Given the description of an element on the screen output the (x, y) to click on. 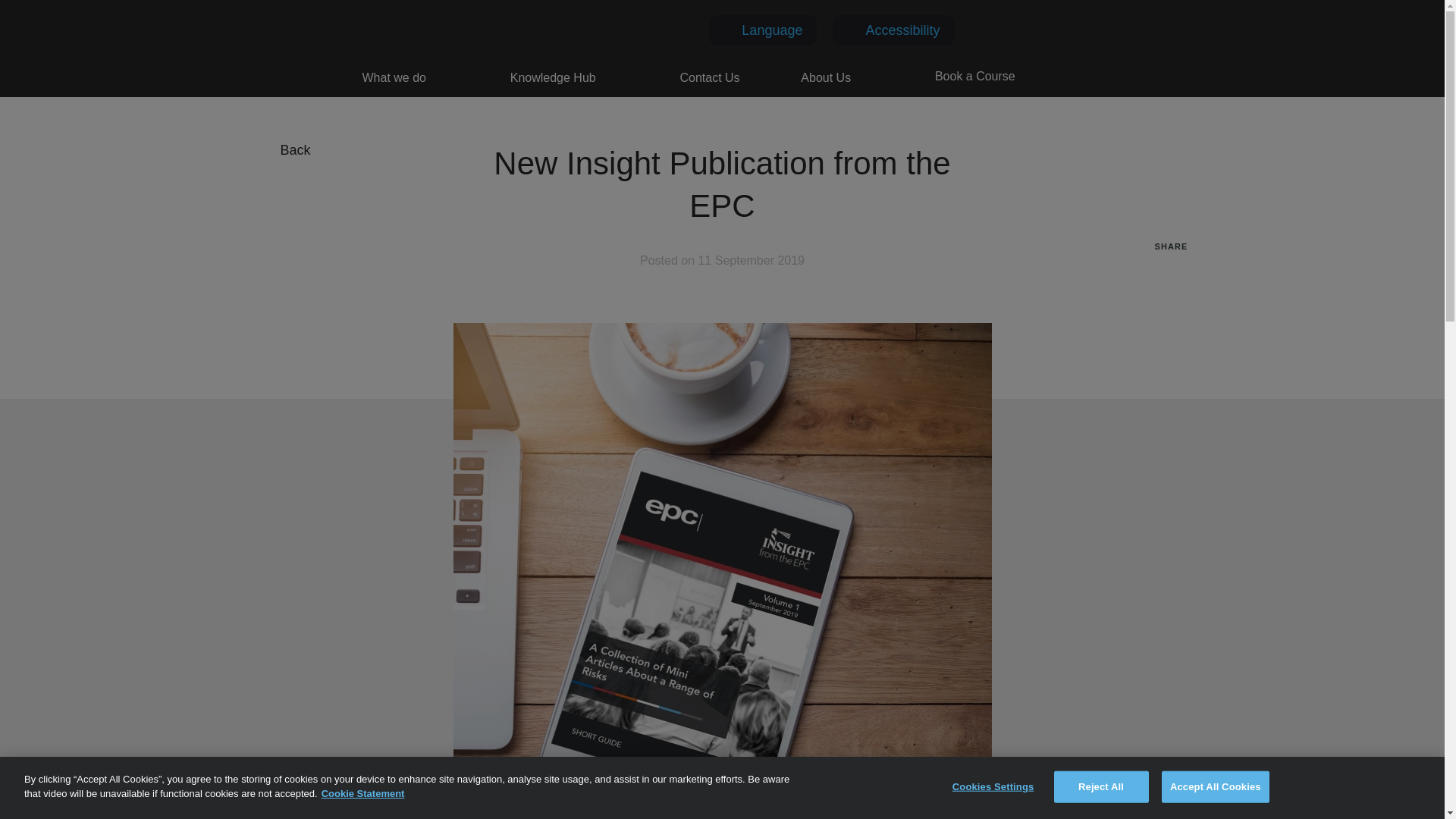
What we do (396, 77)
Search page (1075, 76)
About Us (828, 77)
Book a Course (974, 77)
Knowledge Hub (555, 77)
Language (771, 30)
Back (288, 150)
Accessibility (902, 30)
Contact Us (711, 77)
